Given the description of an element on the screen output the (x, y) to click on. 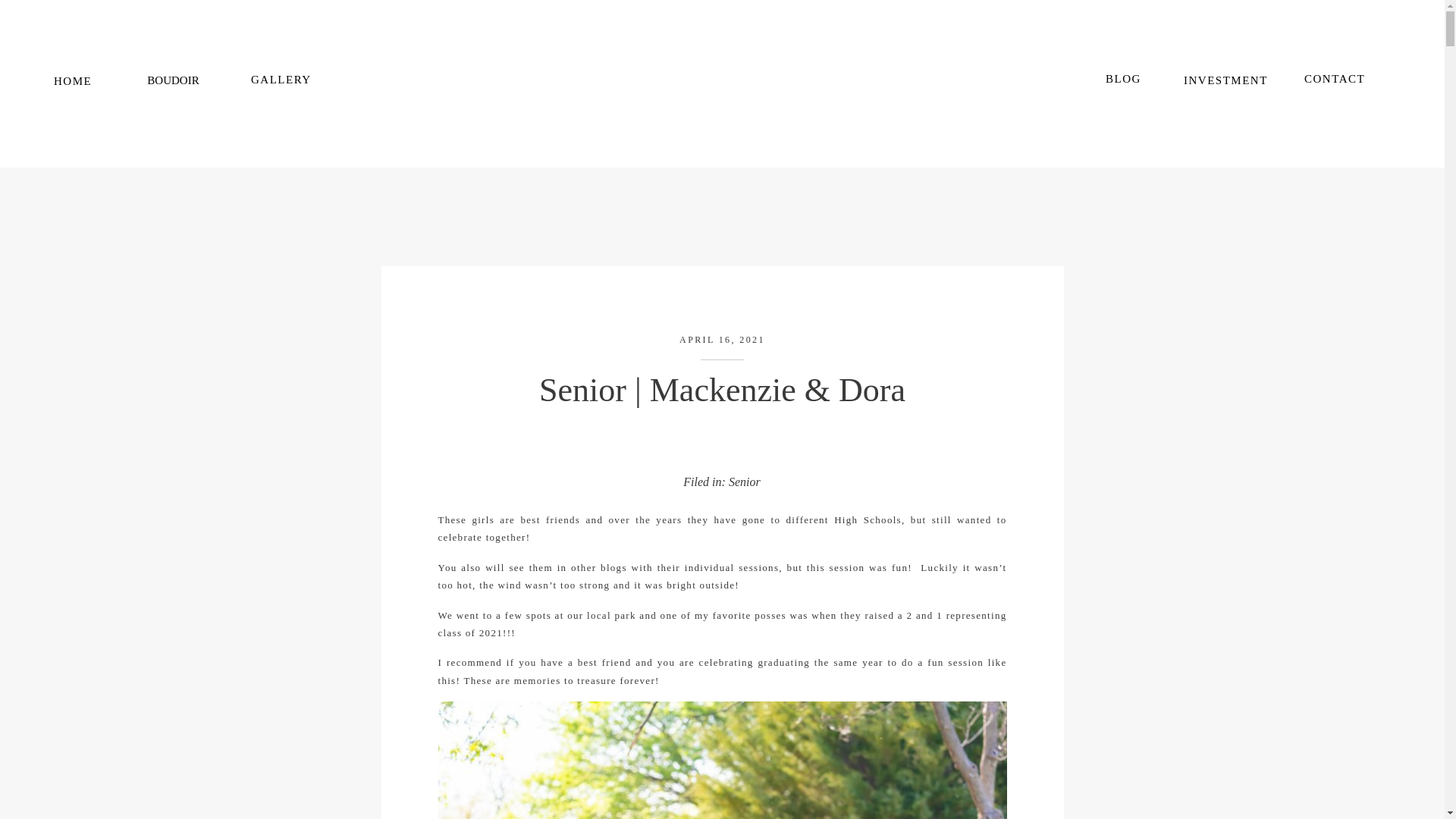
GALLERY (280, 82)
INVESTMENT (1233, 85)
BLOG (1123, 80)
HOME (77, 82)
Senior (744, 481)
BOUDOIR (173, 85)
CONTACT (1335, 81)
